Given the description of an element on the screen output the (x, y) to click on. 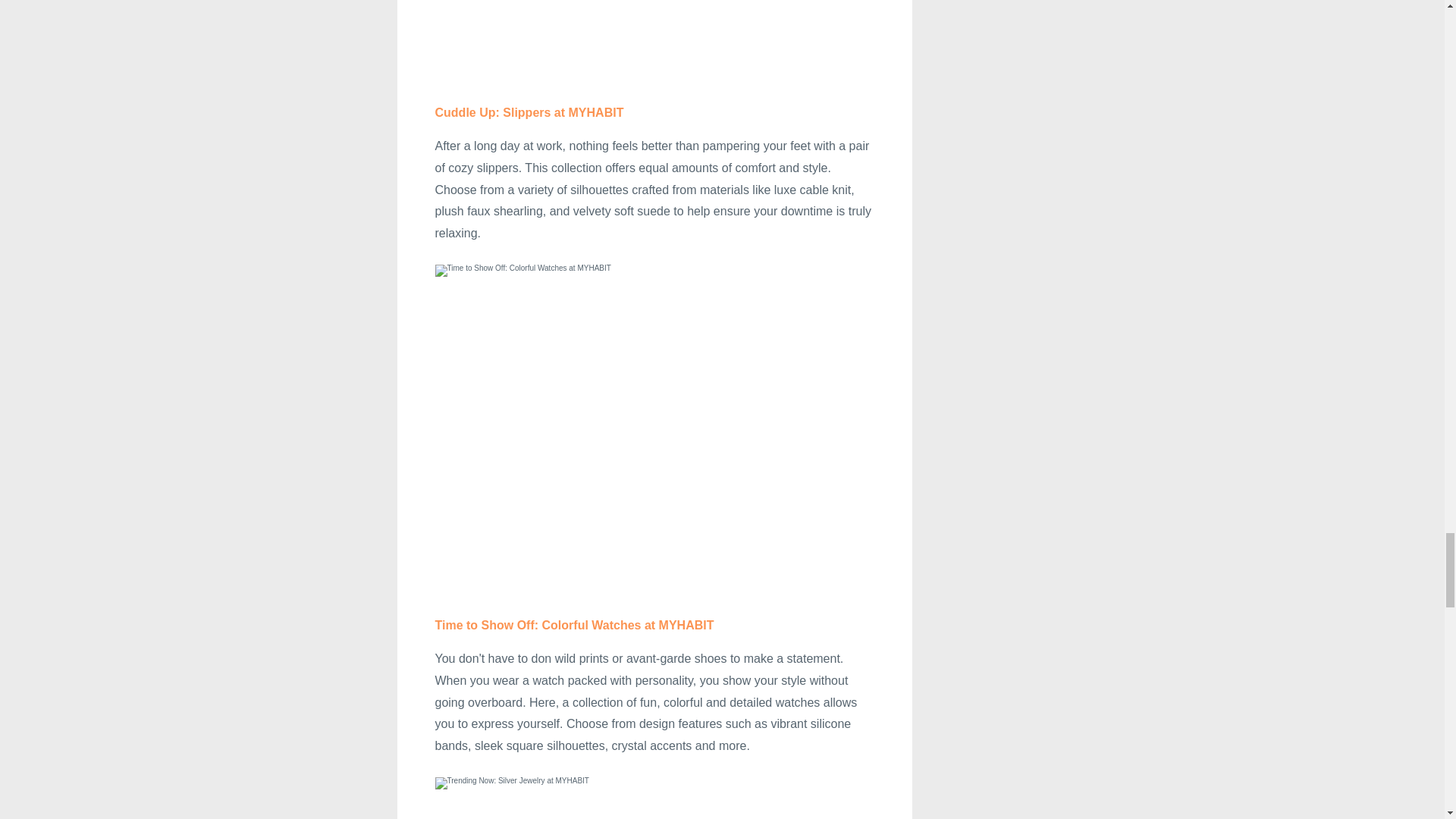
Cuddle Up: Slippers at MYHABIT (529, 112)
Time to Show Off: Colorful Watches at MYHABIT (574, 625)
